Given the description of an element on the screen output the (x, y) to click on. 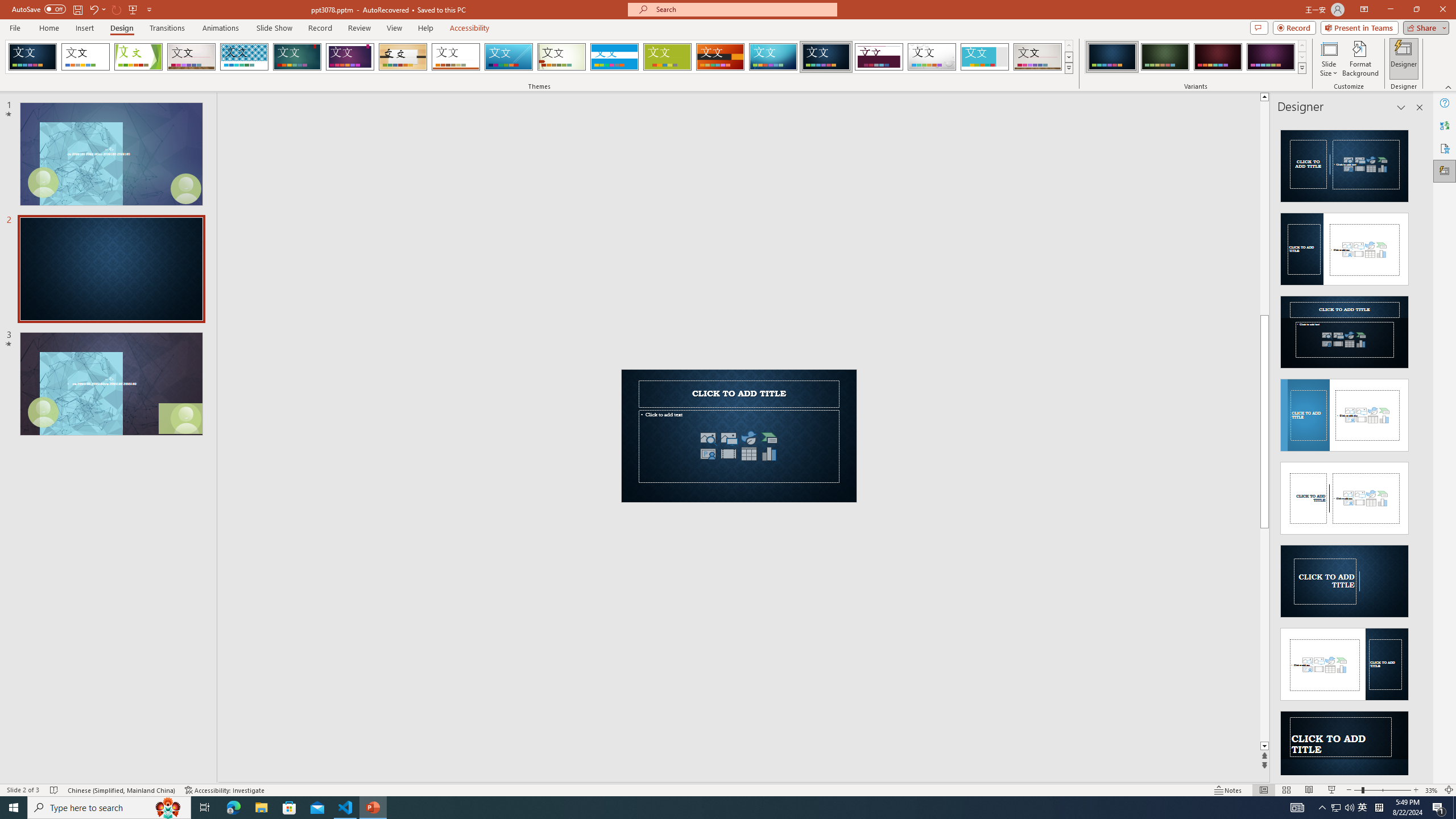
Insert Chart (769, 453)
Integral (244, 56)
Damask Variant 2 (1164, 56)
Facet (138, 56)
